Given the description of an element on the screen output the (x, y) to click on. 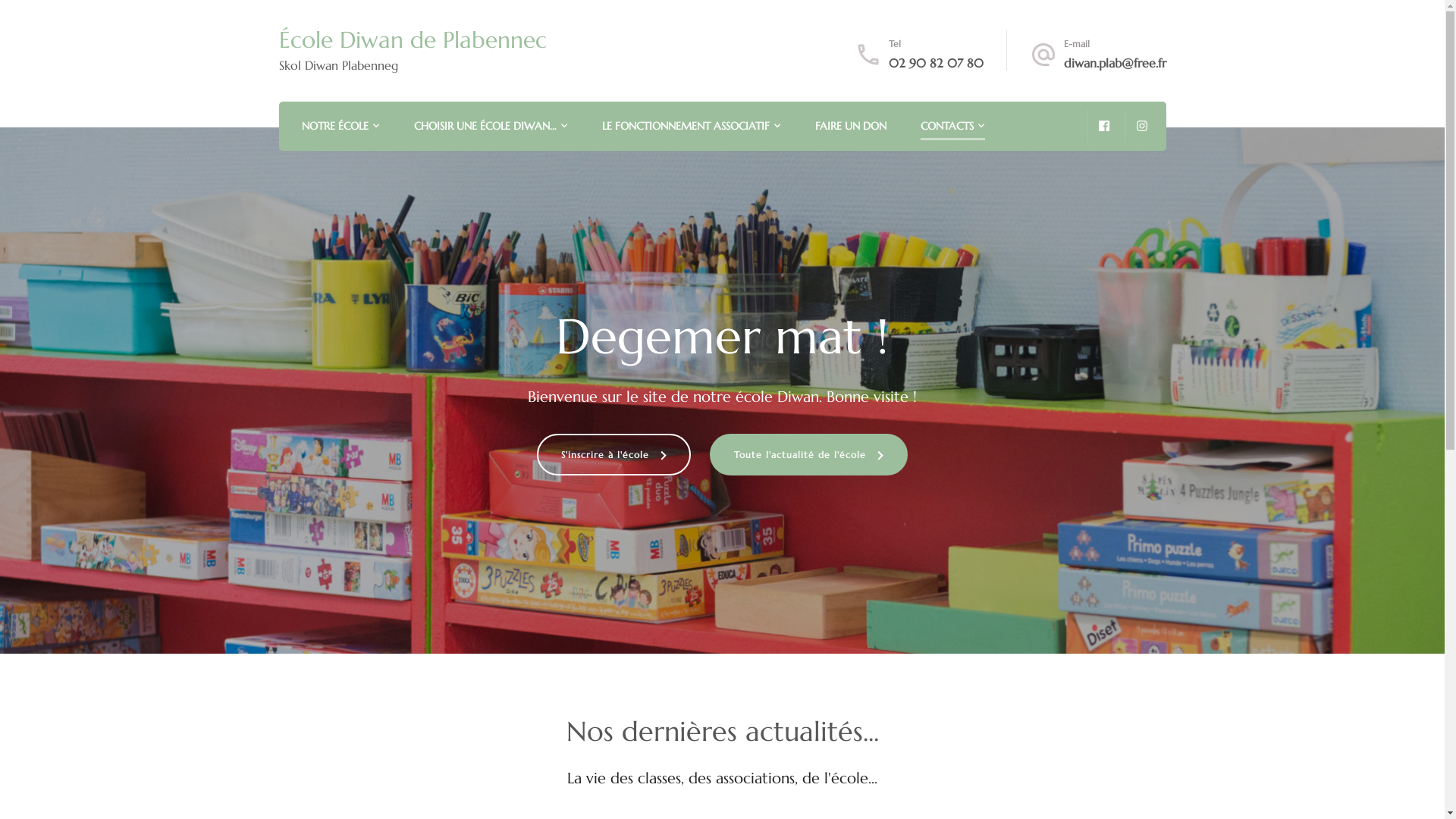
diwan.plab@free.fr Element type: text (1114, 62)
02 90 82 07 80 Element type: text (935, 62)
LE FONCTIONNEMENT ASSOCIATIF Element type: text (685, 127)
CONTACTS Element type: text (946, 127)
FAIRE UN DON Element type: text (849, 127)
